Given the description of an element on the screen output the (x, y) to click on. 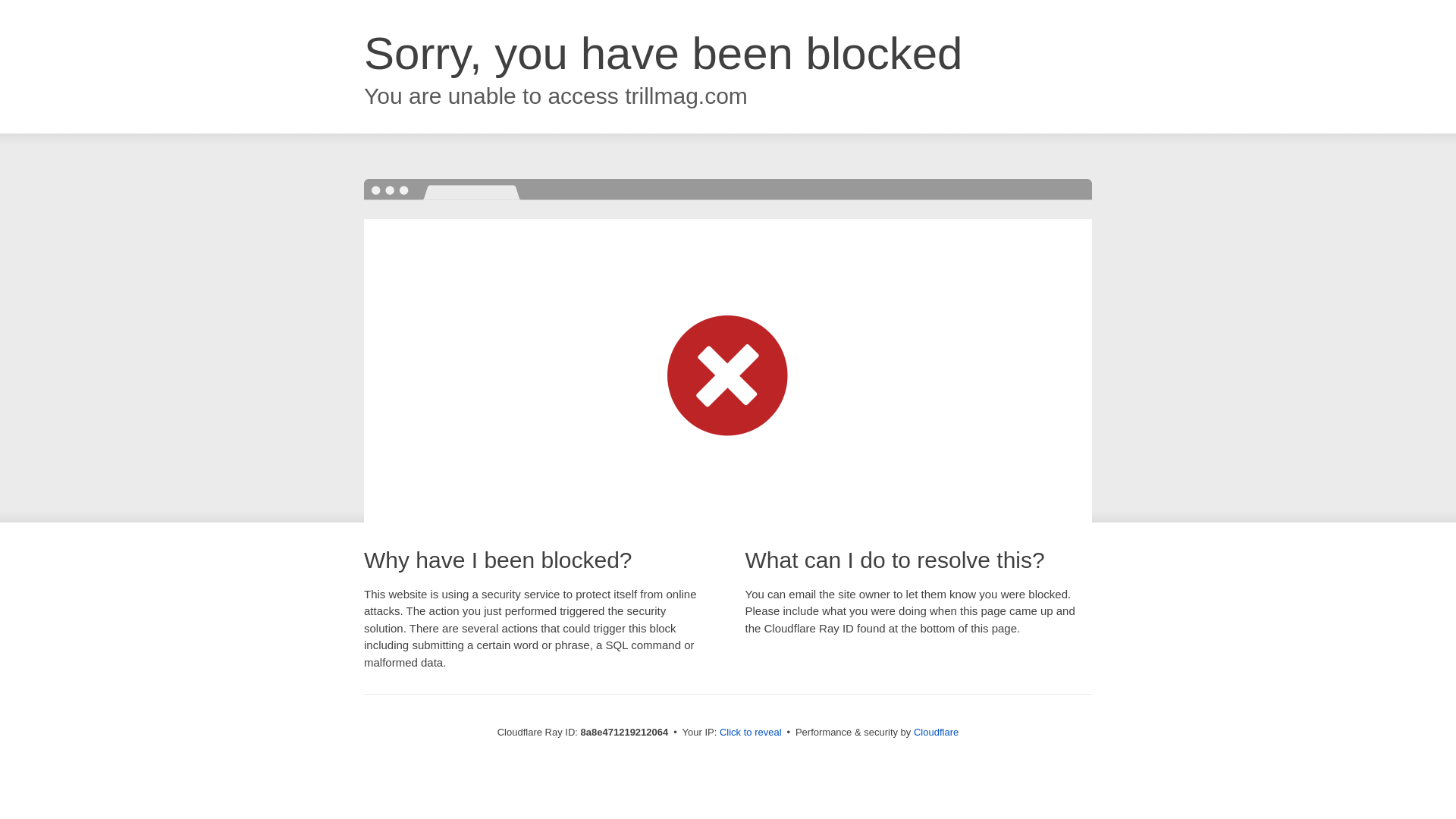
Click to reveal (750, 732)
Cloudflare (936, 731)
